Given the description of an element on the screen output the (x, y) to click on. 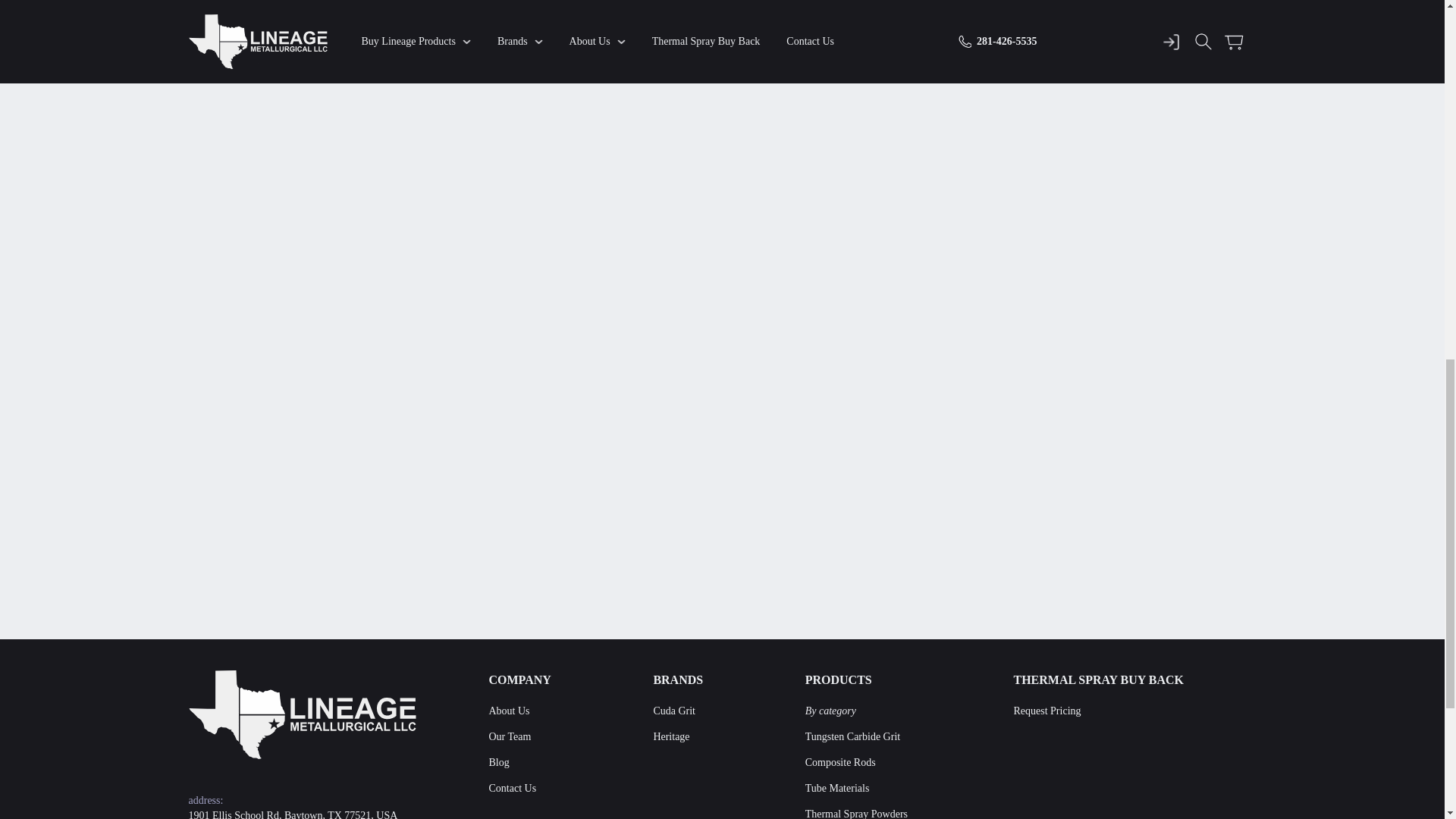
Electric Tradition Tubemetals (300, 713)
